Given the description of an element on the screen output the (x, y) to click on. 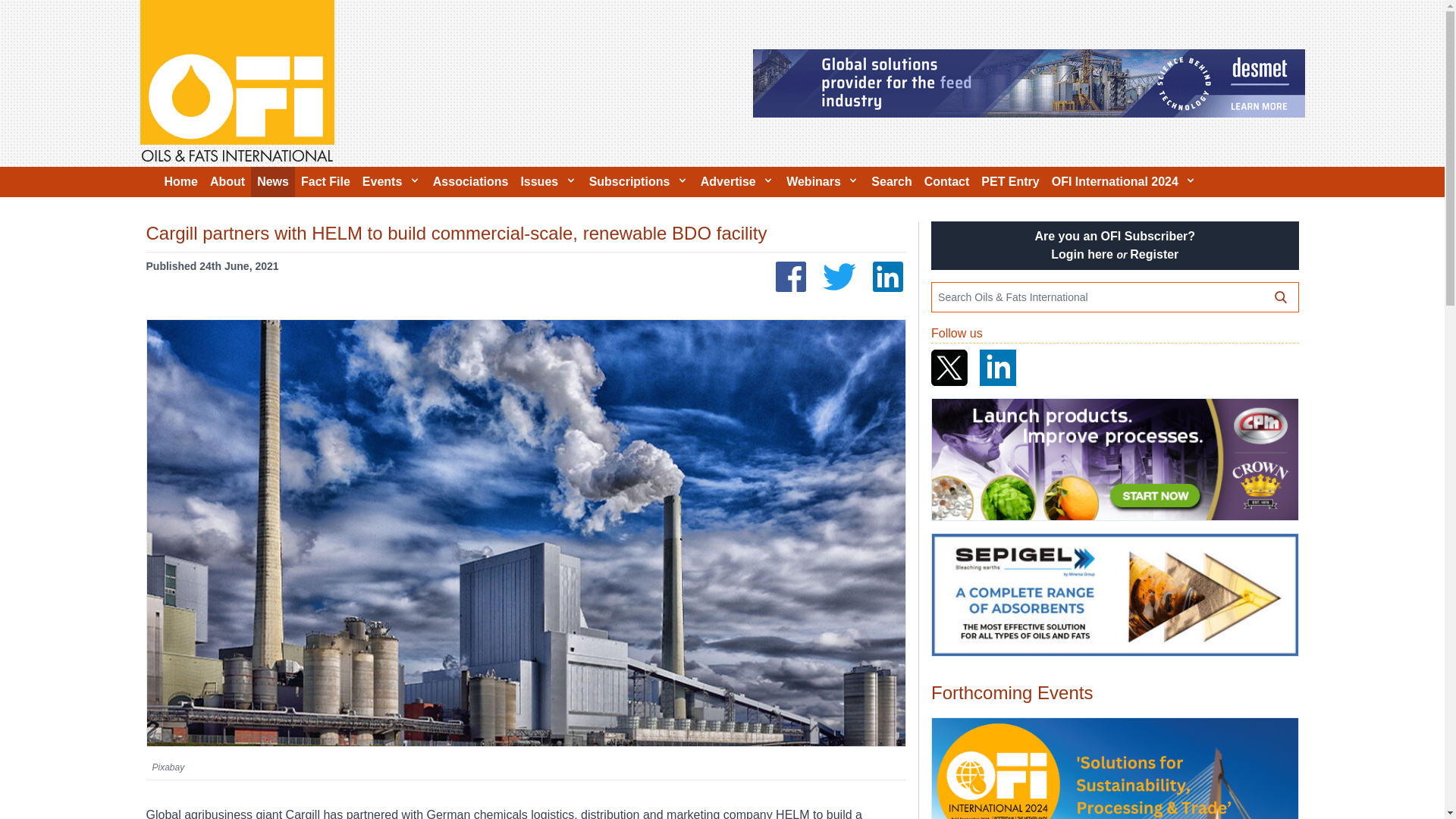
Search (890, 182)
News (272, 182)
Sepigel 2024 (1114, 594)
Fact File (325, 182)
Home (180, 182)
Issues (547, 182)
Associations (470, 182)
About (226, 182)
Share on Facebook (791, 276)
Subscriptions (638, 182)
Crown JUL 24 - Accelerate it - speciality (1114, 459)
Webinars (822, 182)
Share on LinkedIn (887, 276)
OFI International 2024 (1124, 182)
OFI International 2024 (1114, 768)
